Given the description of an element on the screen output the (x, y) to click on. 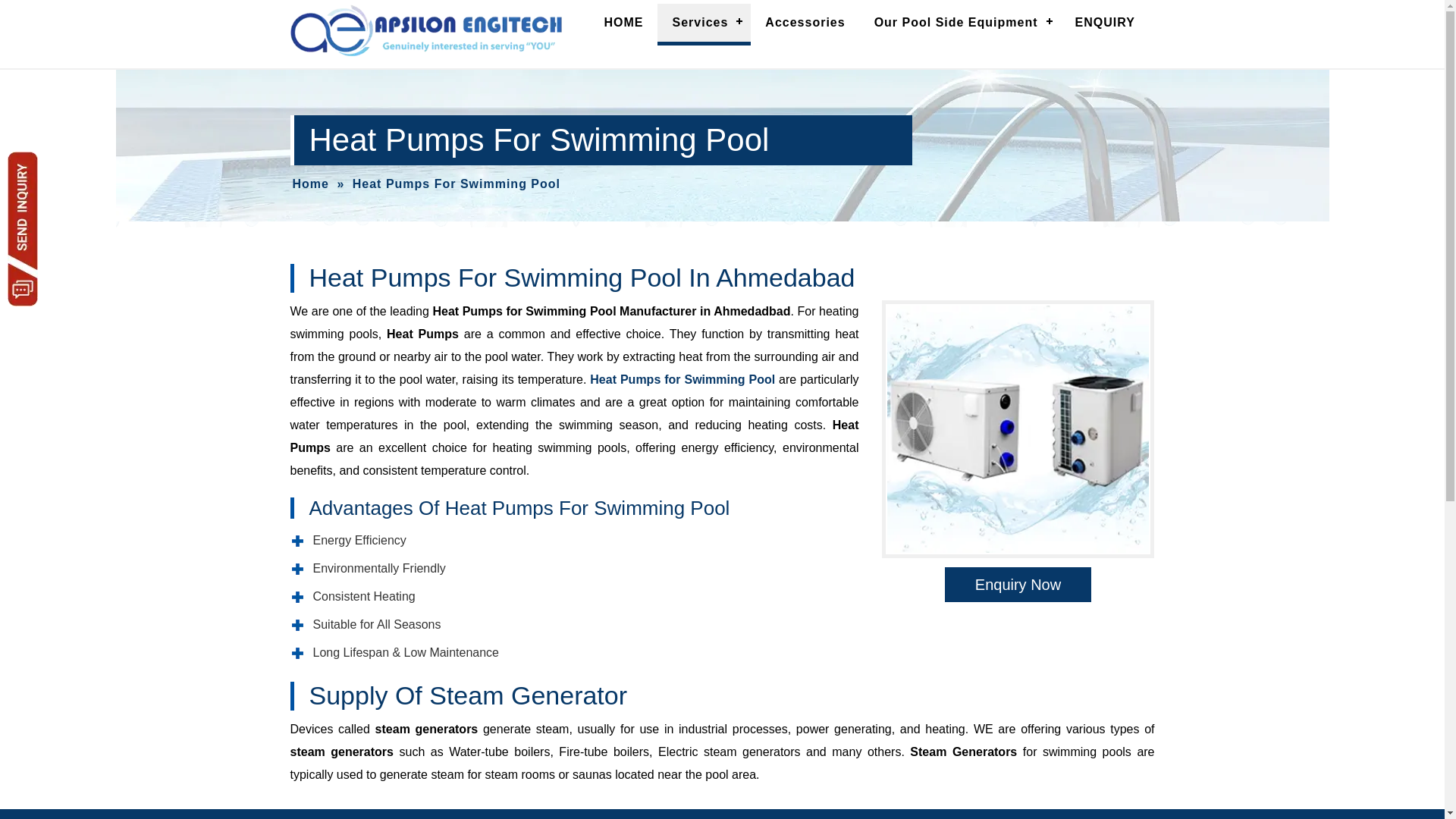
Services (704, 22)
Accessories (805, 22)
Heat Pumps for Swimming Pool (681, 379)
Home (310, 183)
Enquiry Now (1018, 584)
HOME (623, 22)
Our Pool Side Equipment (960, 22)
ENQUIRY (1105, 22)
